Given the description of an element on the screen output the (x, y) to click on. 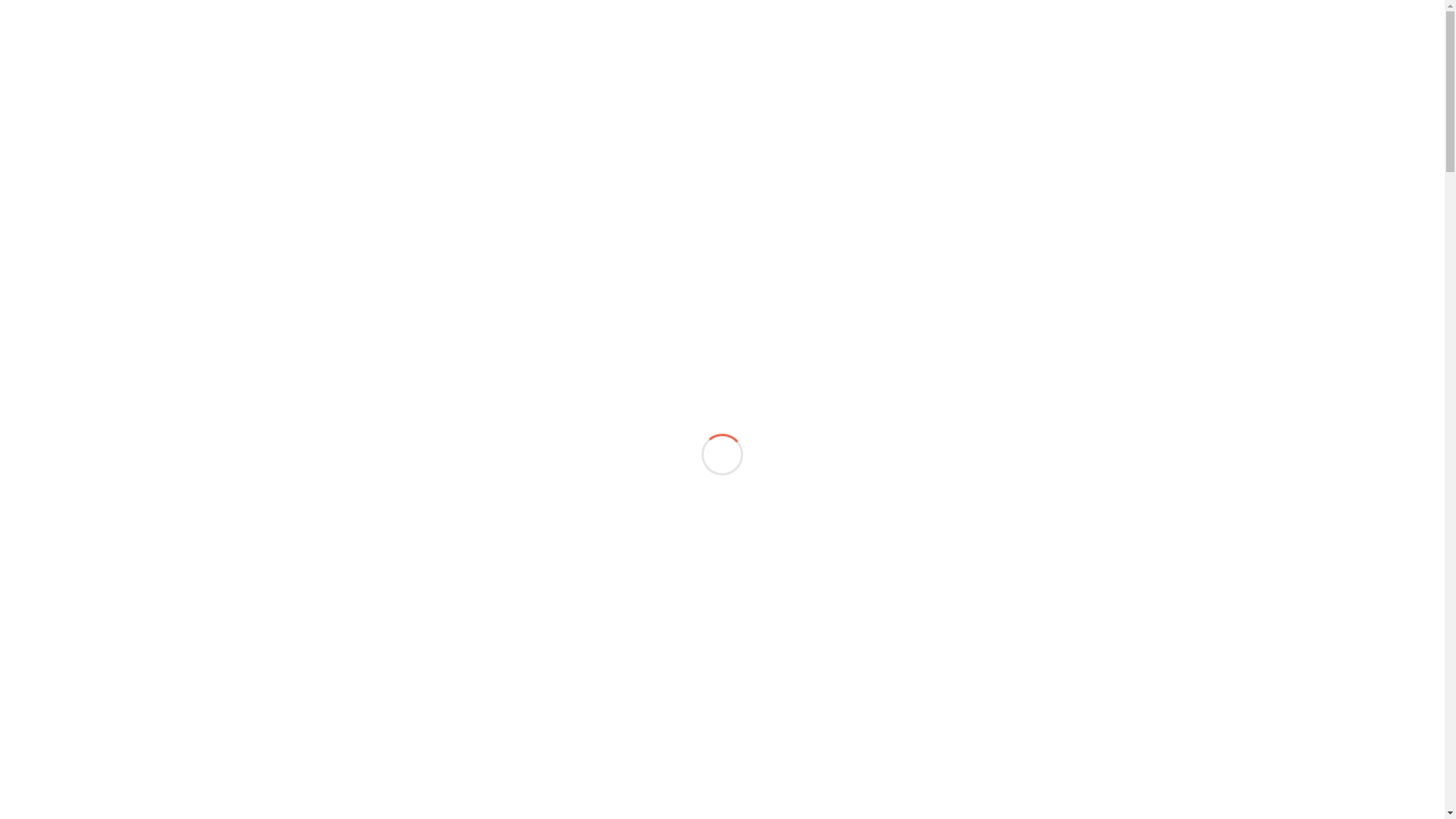
Upload Script Element type: text (865, 442)
Script Refill Element type: text (573, 442)
Script Refill Element type: text (1161, 125)
Upload Script Element type: text (1296, 125)
Enquire Element type: text (1367, 53)
Compounding Services Element type: text (1046, 125)
Home Element type: text (945, 125)
Kingswood Compounding Pharmacy Element type: text (334, 360)
Blog Element type: text (1360, 125)
Get in touch Element type: text (716, 442)
Contact Element type: text (1408, 125)
Orders Element type: text (1226, 125)
